Given the description of an element on the screen output the (x, y) to click on. 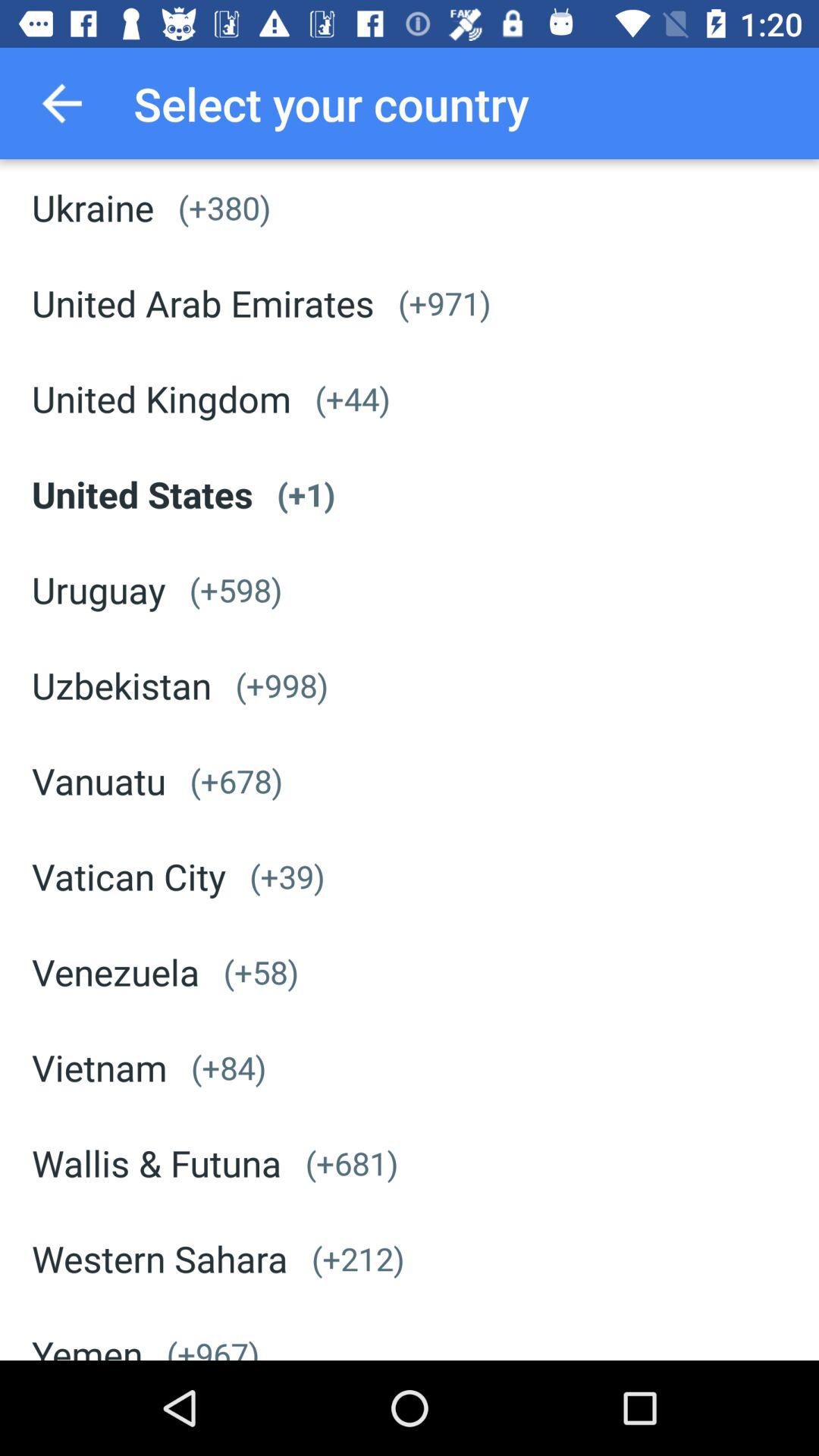
click app above the vatican city (98, 780)
